Given the description of an element on the screen output the (x, y) to click on. 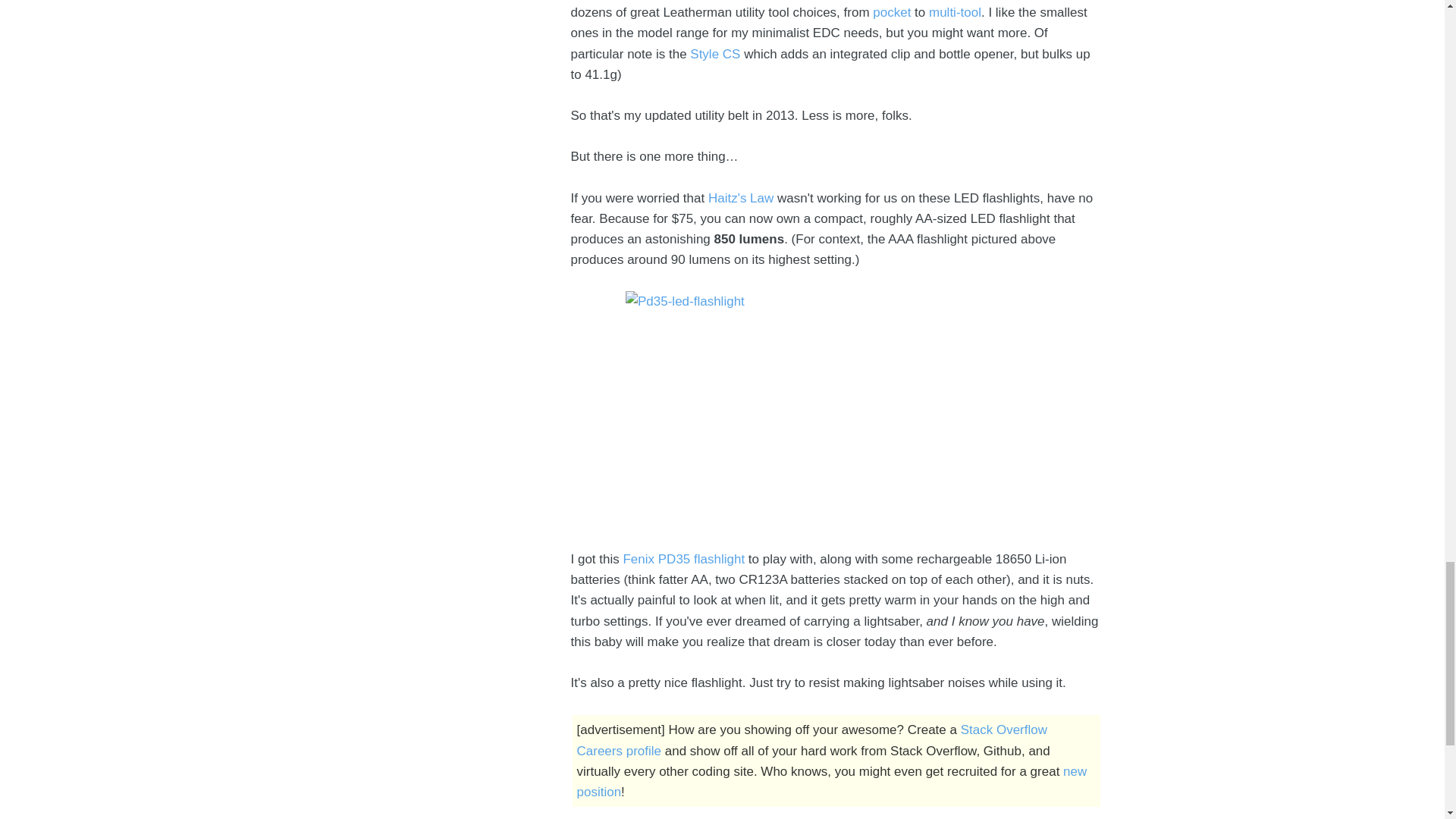
Pd35-led-flashlight (836, 409)
Stack Overflow Careers profile (811, 739)
new position (831, 781)
Fenix PD35 flashlight (683, 559)
Haitz's Law (740, 197)
multi-tool (954, 11)
pocket (891, 11)
Style CS (714, 53)
